Given the description of an element on the screen output the (x, y) to click on. 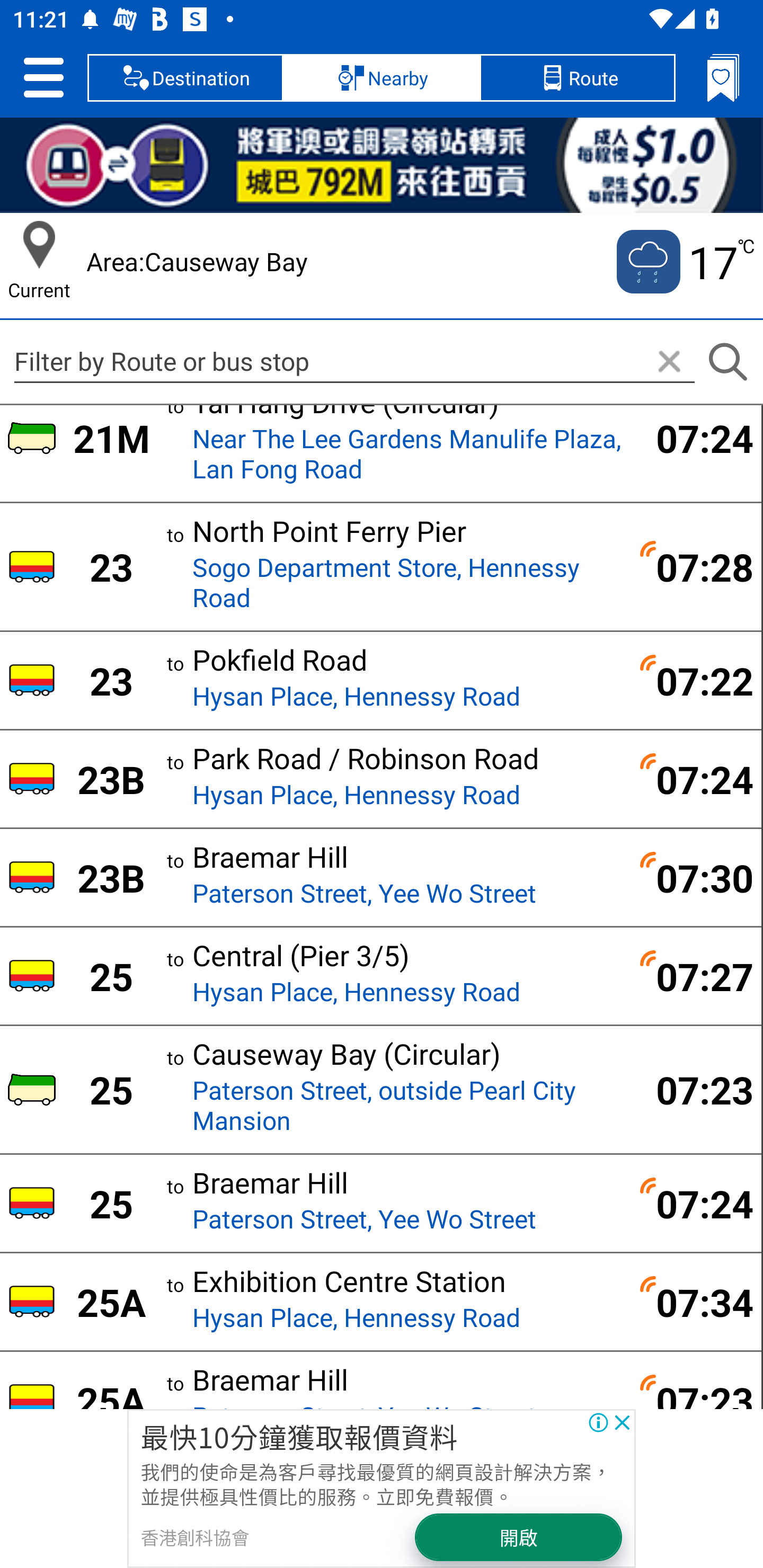
Destination (185, 77)
Nearby, selected (381, 77)
Route (577, 77)
Bookmarks (723, 77)
Setting (43, 77)
792M BRI (381, 165)
Current Location (38, 244)
Current temputure is  17  no 17 ℃ (684, 261)
Filter by Route or bus stop (354, 361)
Search (727, 362)
Clear (669, 361)
07:24 (693, 438)
07:28 (693, 566)
07:22 (693, 680)
07:24 (693, 778)
07:30 (693, 877)
07:27 (693, 975)
07:23 (693, 1088)
07:24 (693, 1203)
07:34 (693, 1302)
最快10分鐘獲取報價資料 (299, 1435)
開啟 (519, 1537)
香港創科協會 (194, 1537)
